Given the description of an element on the screen output the (x, y) to click on. 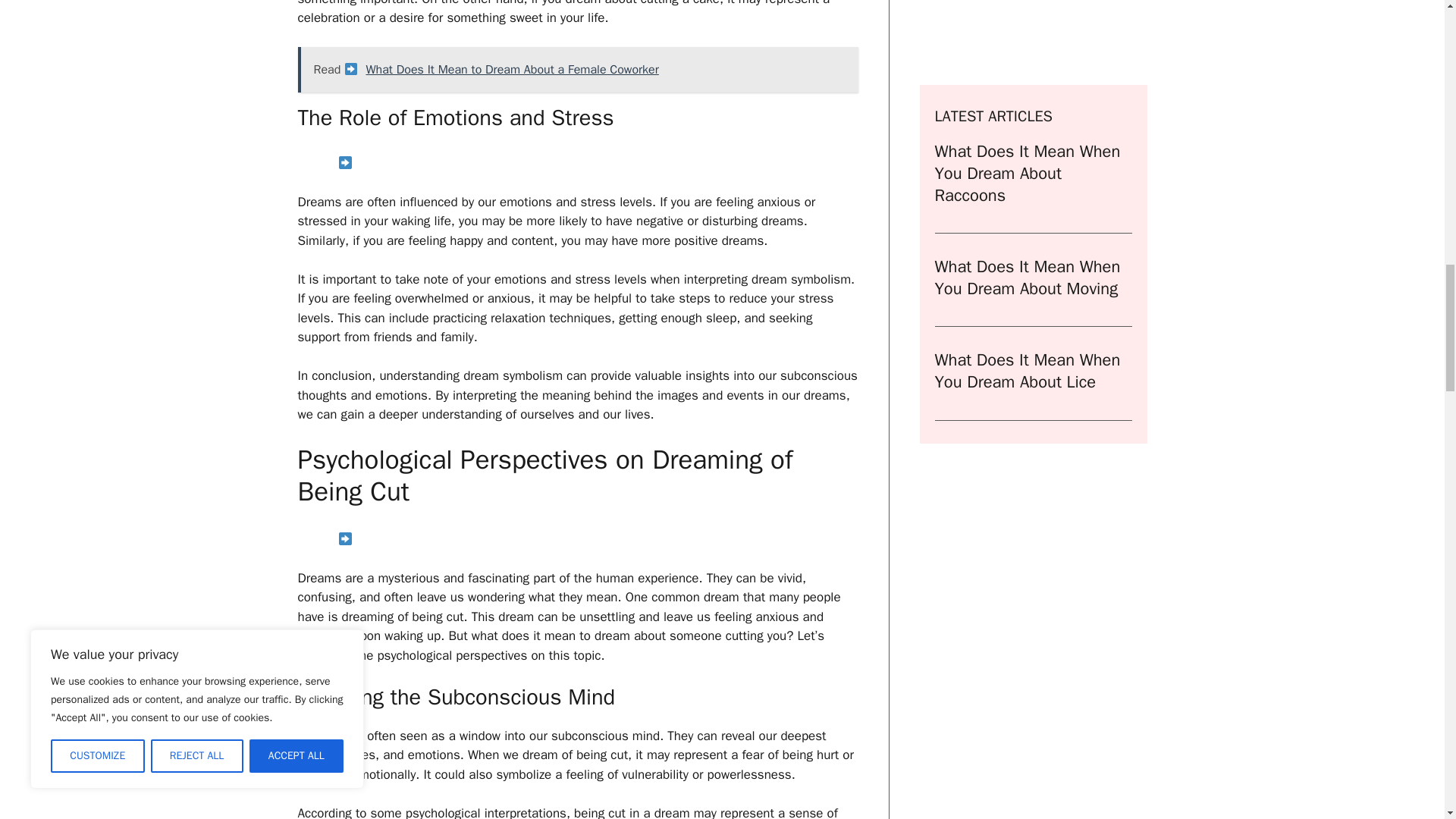
Read   What Does It Mean to Dream About a Female Coworker (577, 69)
Read What Does a School Shooting Dream Mean (577, 539)
Read What Does a Kitchen Mean in a Dream Biblically (577, 163)
